Given the description of an element on the screen output the (x, y) to click on. 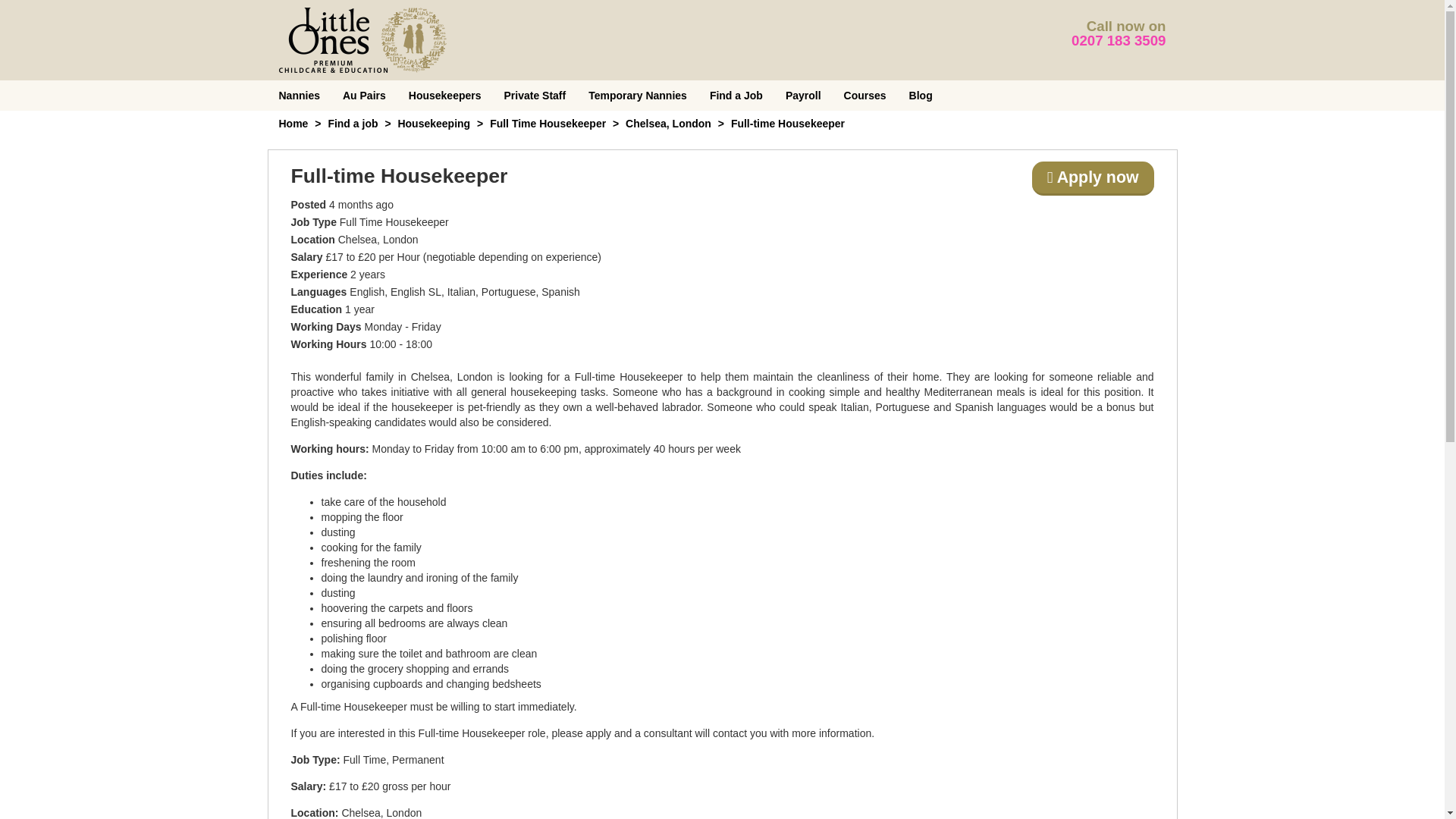
Nannies (298, 95)
Housekeepers (445, 95)
Au Pairs (364, 95)
0207 183 3509 (1118, 40)
